Given the description of an element on the screen output the (x, y) to click on. 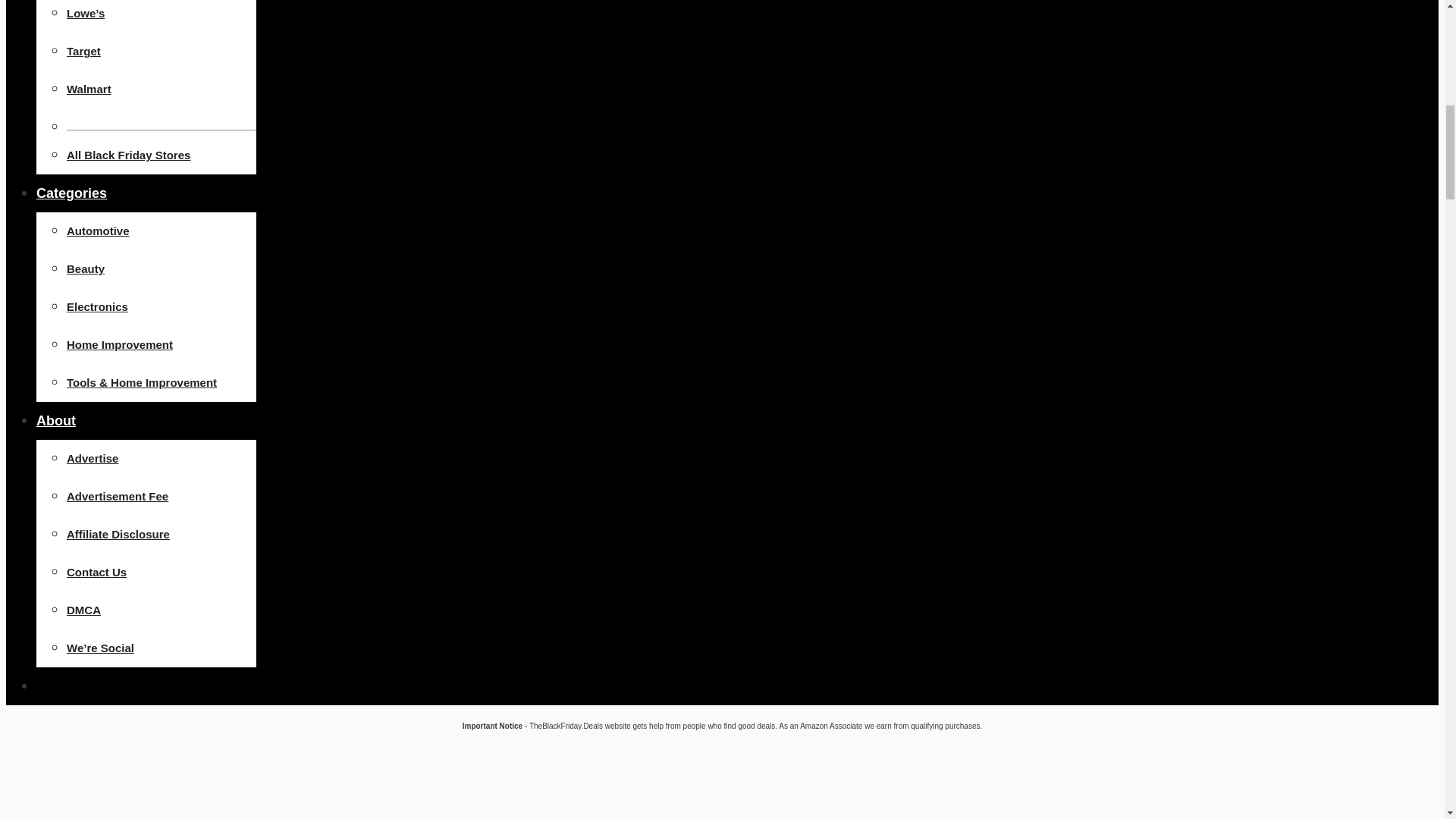
Advertise (91, 458)
Target (83, 51)
About (55, 420)
Advertisement Fee (117, 495)
Contact Us (96, 571)
Home Improvement (119, 344)
Walmart (89, 88)
Automotive (97, 230)
Affiliate Disclosure (118, 533)
Categories (71, 192)
All Black Friday Stores (128, 154)
Electronics (97, 306)
Beauty (85, 268)
DMCA (83, 609)
